Given the description of an element on the screen output the (x, y) to click on. 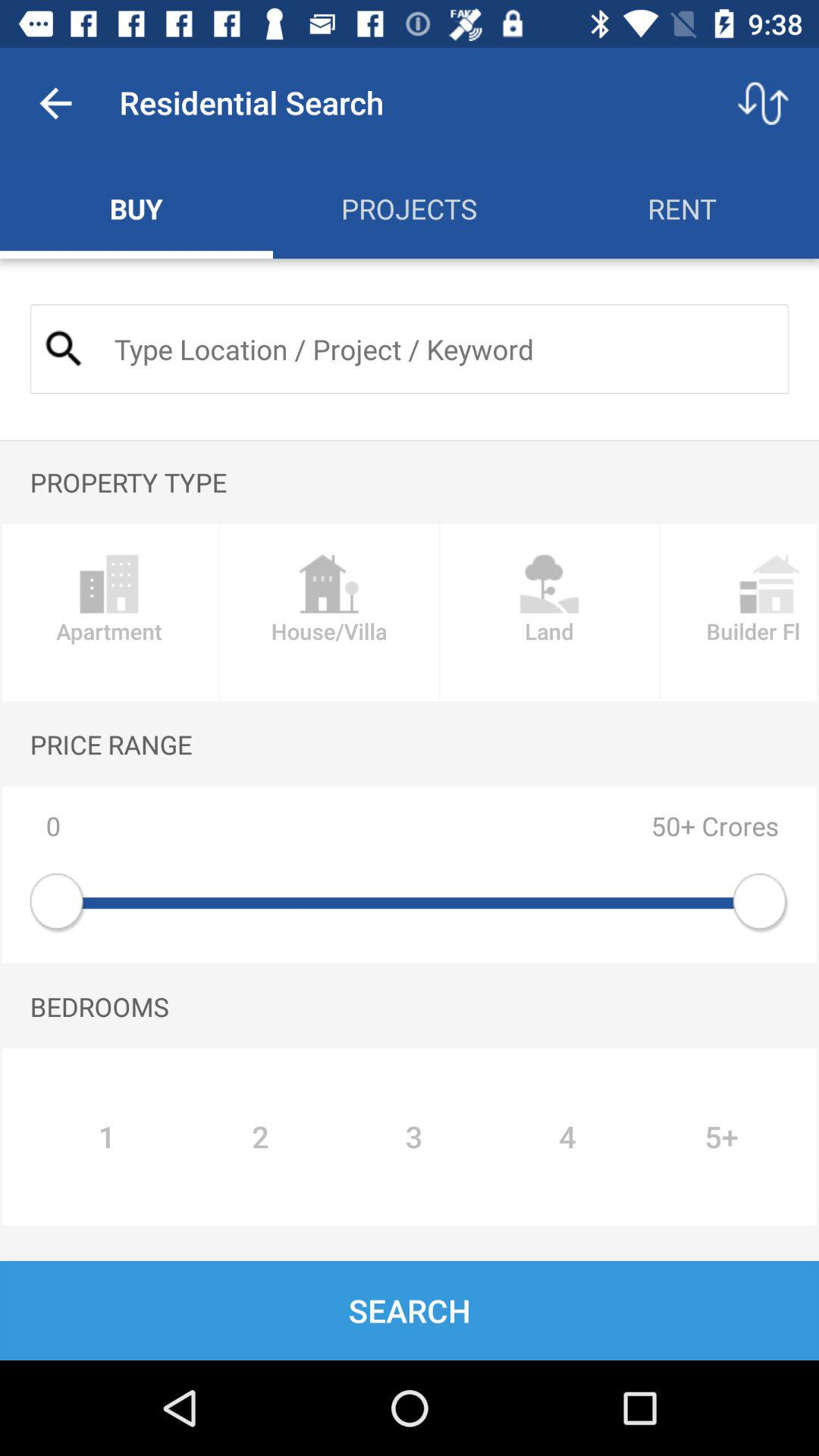
tap icon to the left of the 3 item (260, 1137)
